Given the description of an element on the screen output the (x, y) to click on. 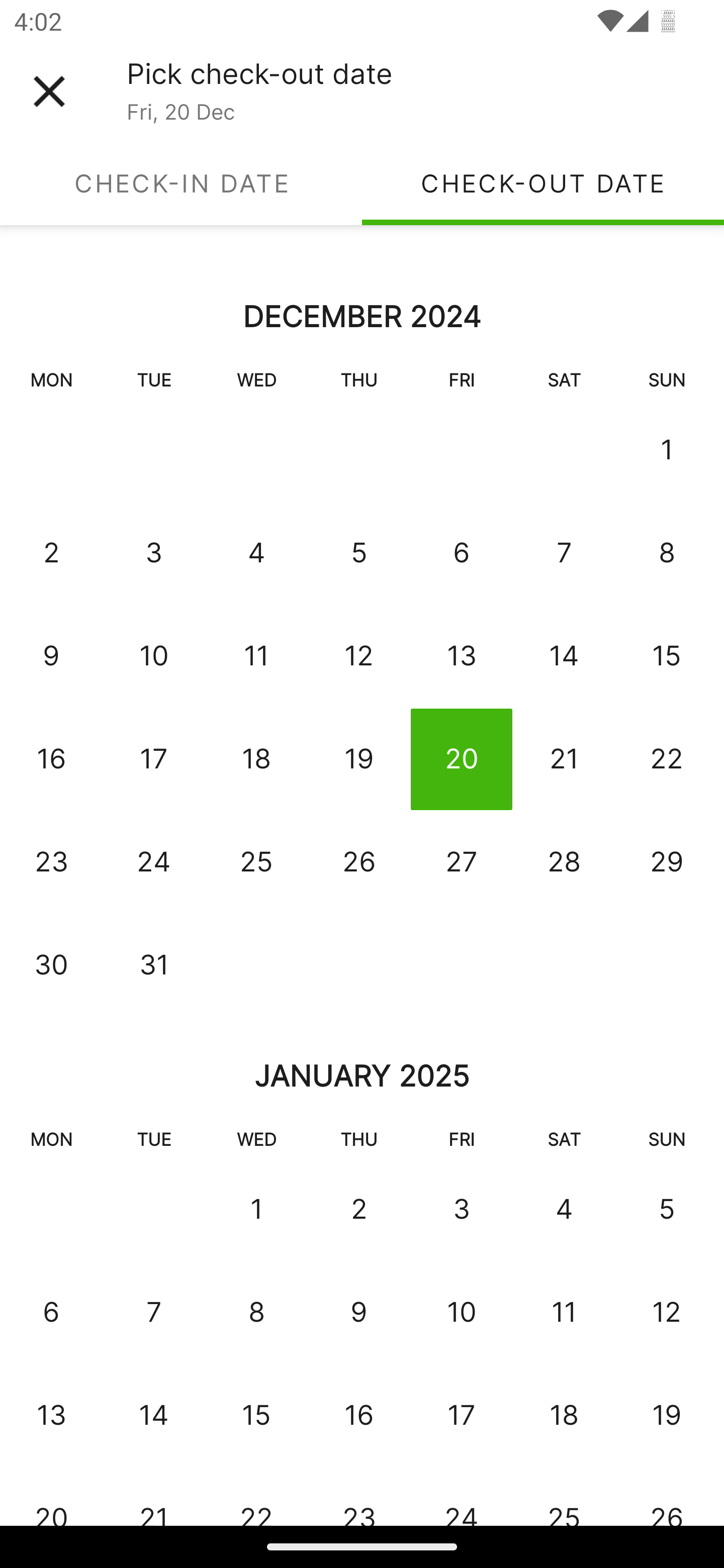
Check-in Date CHECK-IN DATE (181, 183)
